Given the description of an element on the screen output the (x, y) to click on. 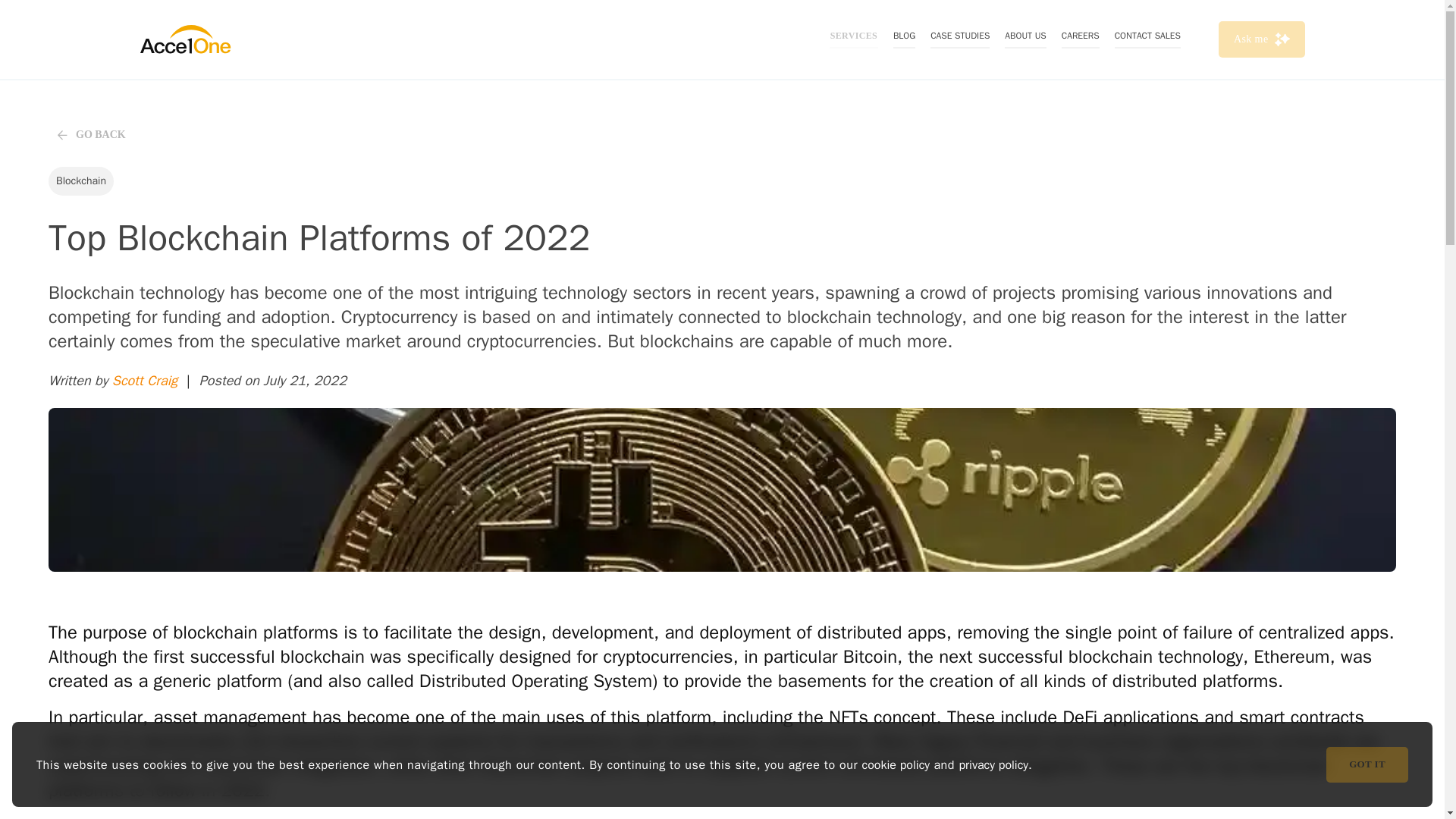
GO BACK (169, 134)
Blockchain (80, 181)
BLOG (904, 39)
CAREERS (1080, 39)
SERVICES (853, 39)
Scott Craig (144, 380)
GOT IT (1366, 764)
CASE STUDIES (960, 39)
privacy policy (992, 765)
cookie policy (895, 765)
